Given the description of an element on the screen output the (x, y) to click on. 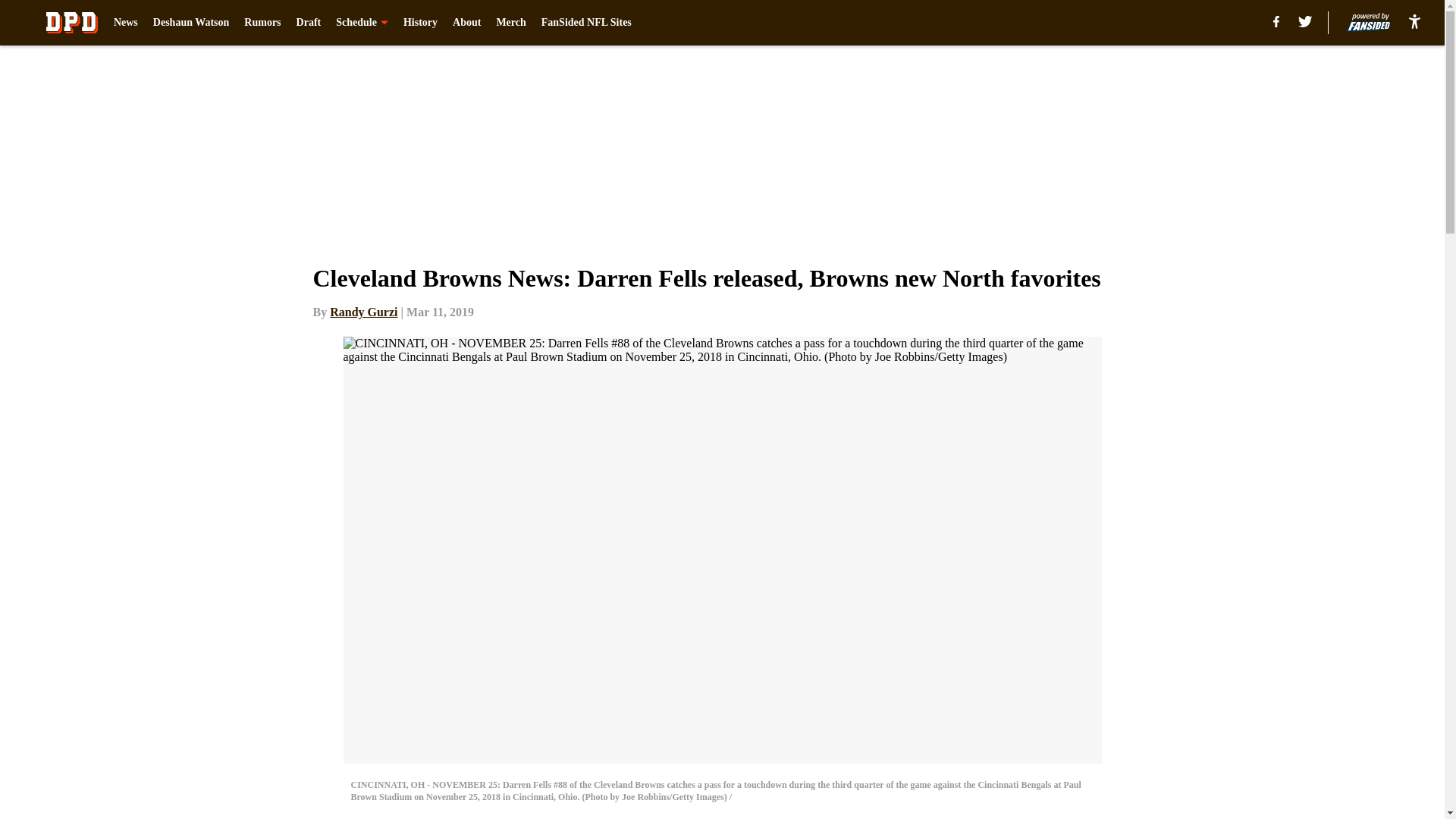
History (420, 22)
Deshaun Watson (191, 22)
About (466, 22)
Draft (309, 22)
Merch (510, 22)
Randy Gurzi (363, 311)
News (125, 22)
Rumors (262, 22)
FanSided NFL Sites (586, 22)
